Given the description of an element on the screen output the (x, y) to click on. 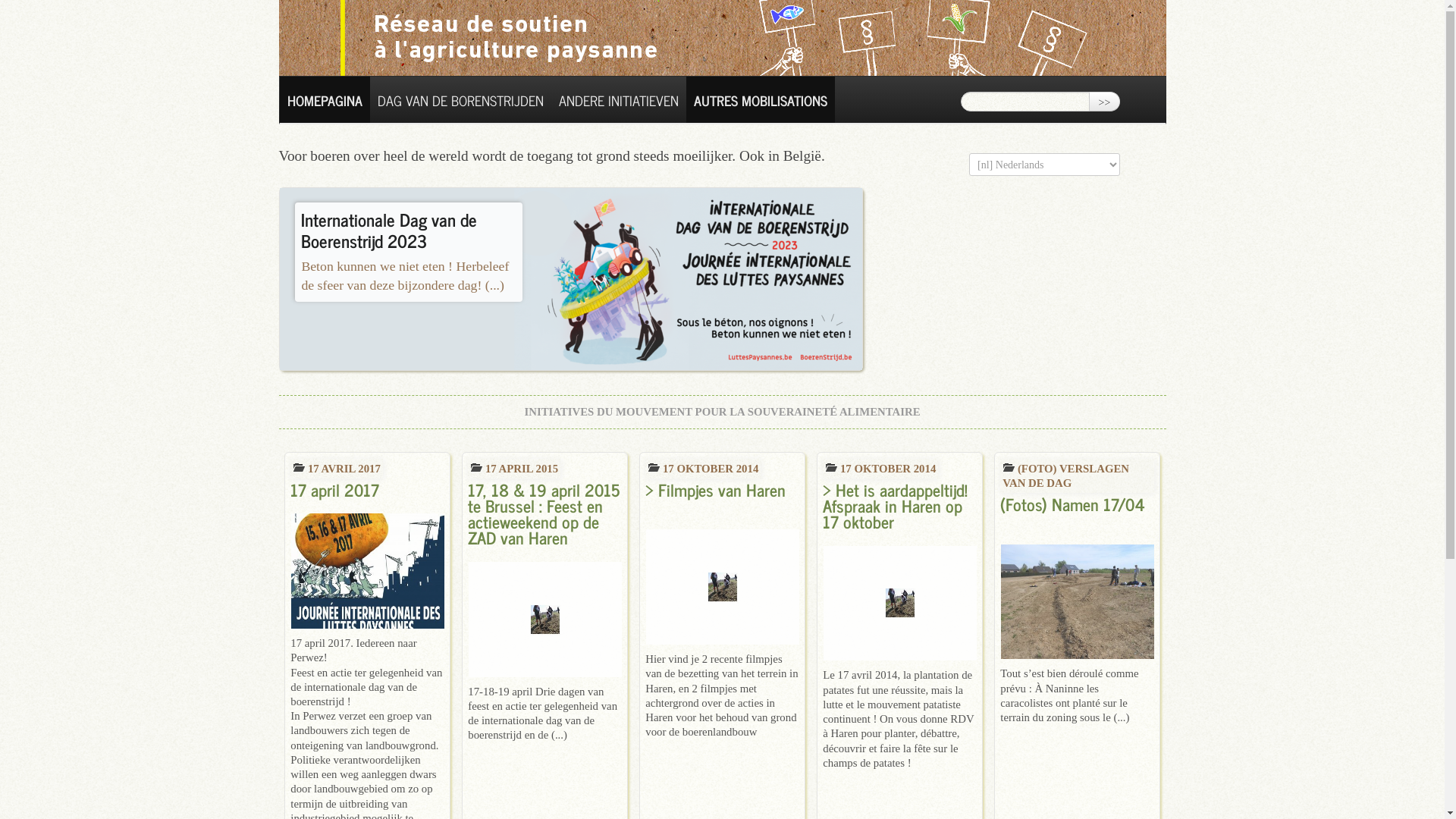
17 oktober 2014 Element type: hover (653, 466)
Internationale Dag van de Boerenstrijd 2023 Element type: text (388, 228)
>> Element type: text (1104, 101)
17 AVRIL 2017 Element type: text (336, 468)
> Het is aardappeltijd! Afspraak in Haren op 17 oktober Element type: text (898, 568)
17 avril 2017 Element type: hover (298, 466)
DAG VAN DE BORENSTRIJDEN Element type: text (460, 99)
HOMEPAGINA Element type: text (324, 99)
(Fotos) Namen 17/04 Element type: text (1076, 574)
17 april 2015 Element type: hover (476, 466)
17 april 2017 Element type: text (366, 552)
ANDERE INITIATIEVEN Element type: text (617, 99)
17 OKTOBER 2014 Element type: text (880, 468)
17 OKTOBER 2014 Element type: text (702, 468)
17 APRIL 2015 Element type: text (513, 468)
AUTRES MOBILISATIONS Element type: text (759, 99)
> Filmpjes van Haren Element type: text (721, 560)
(FOTO) VERSLAGEN VAN DE DAG Element type: text (1076, 475)
 (foto) Verslagen van de dag Element type: hover (1008, 466)
17 oktober 2014 Element type: hover (831, 466)
